Given the description of an element on the screen output the (x, y) to click on. 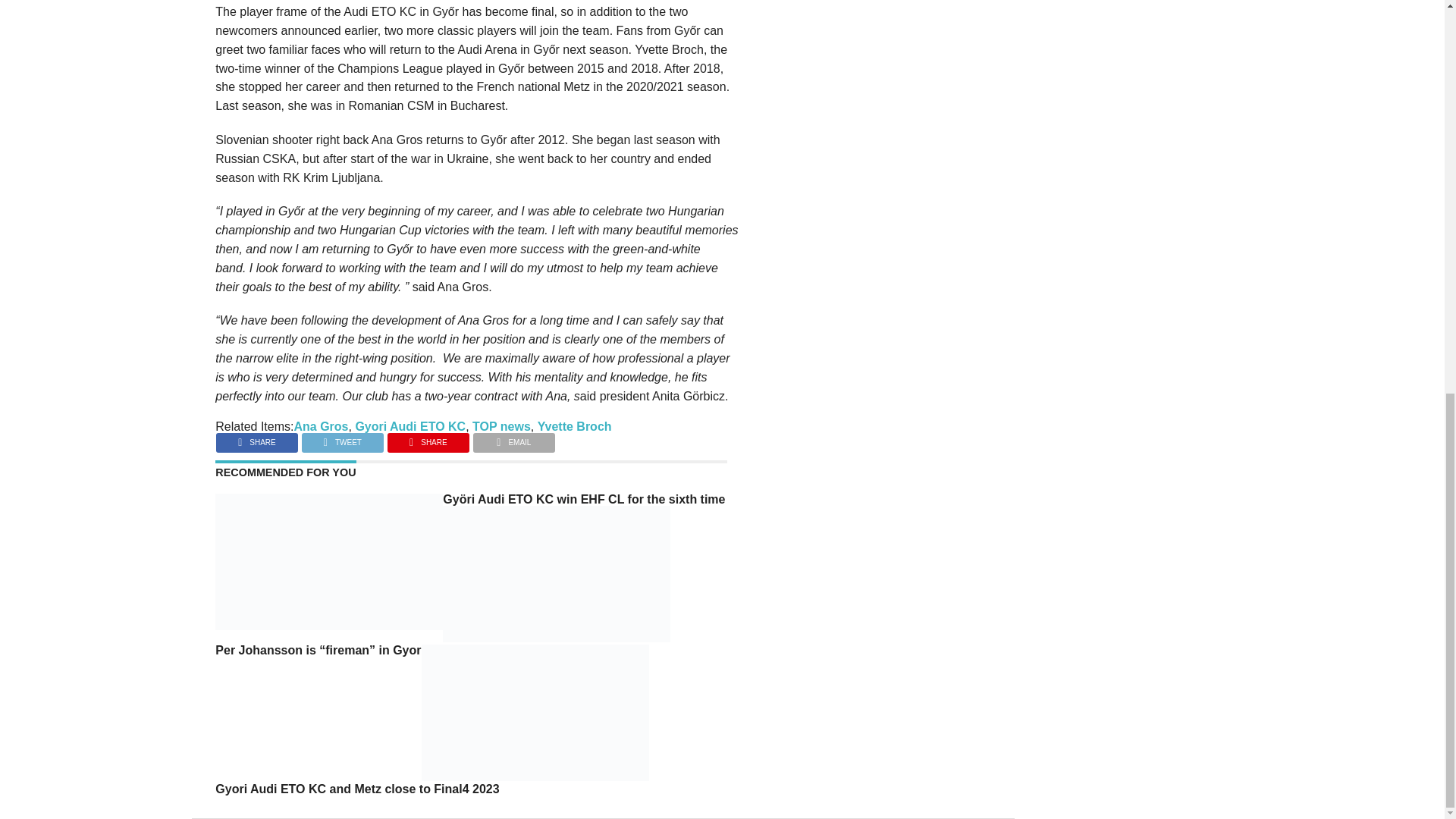
Pin This Post (427, 438)
Tweet This Post (342, 438)
Gyori Audi ETO KC and Metz close to Final4 2023 (535, 776)
Share on Facebook (256, 438)
